Given the description of an element on the screen output the (x, y) to click on. 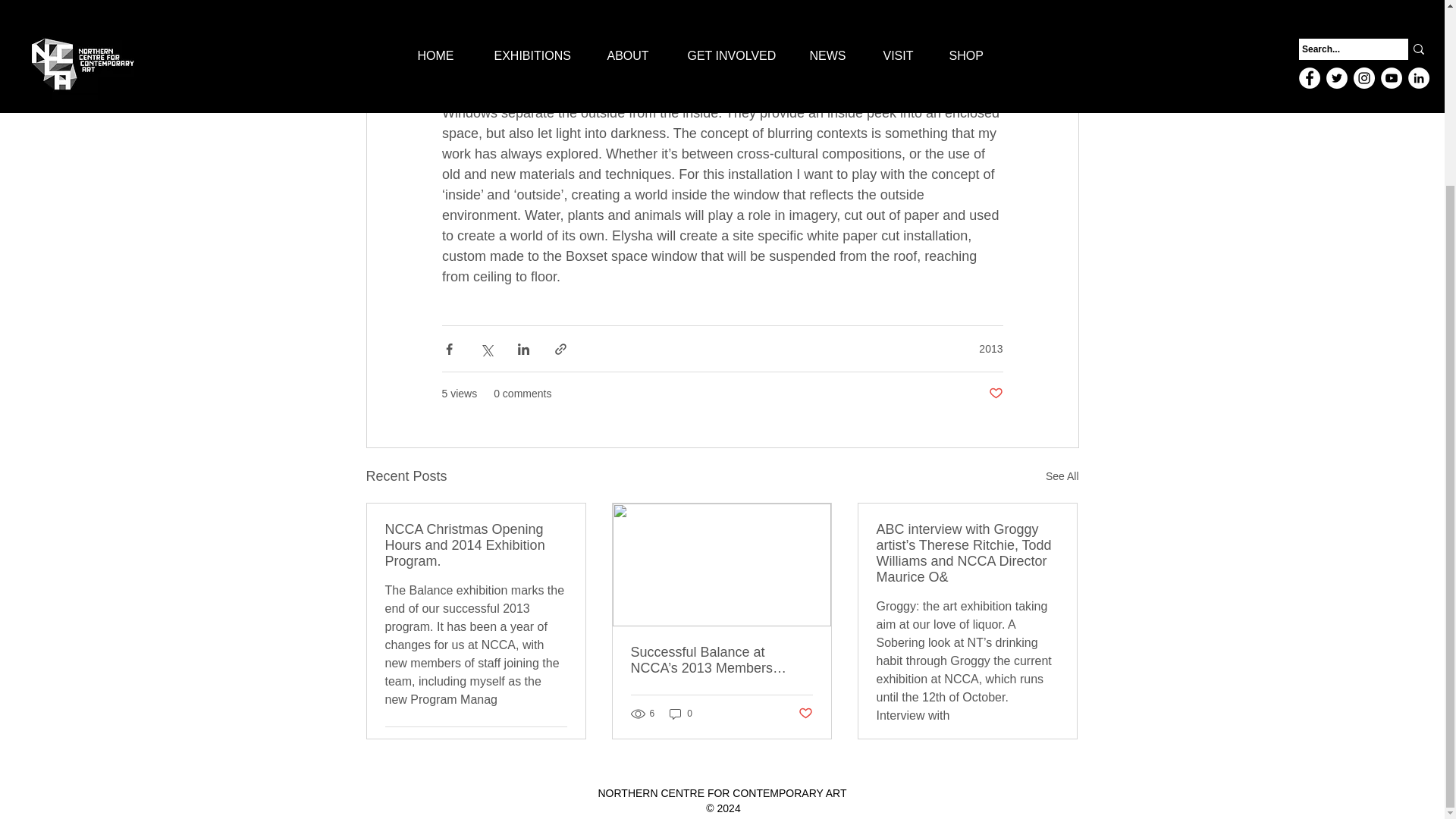
1 min read (657, 17)
info4182645 (498, 17)
Jul 20, 2013 (591, 17)
